Given the description of an element on the screen output the (x, y) to click on. 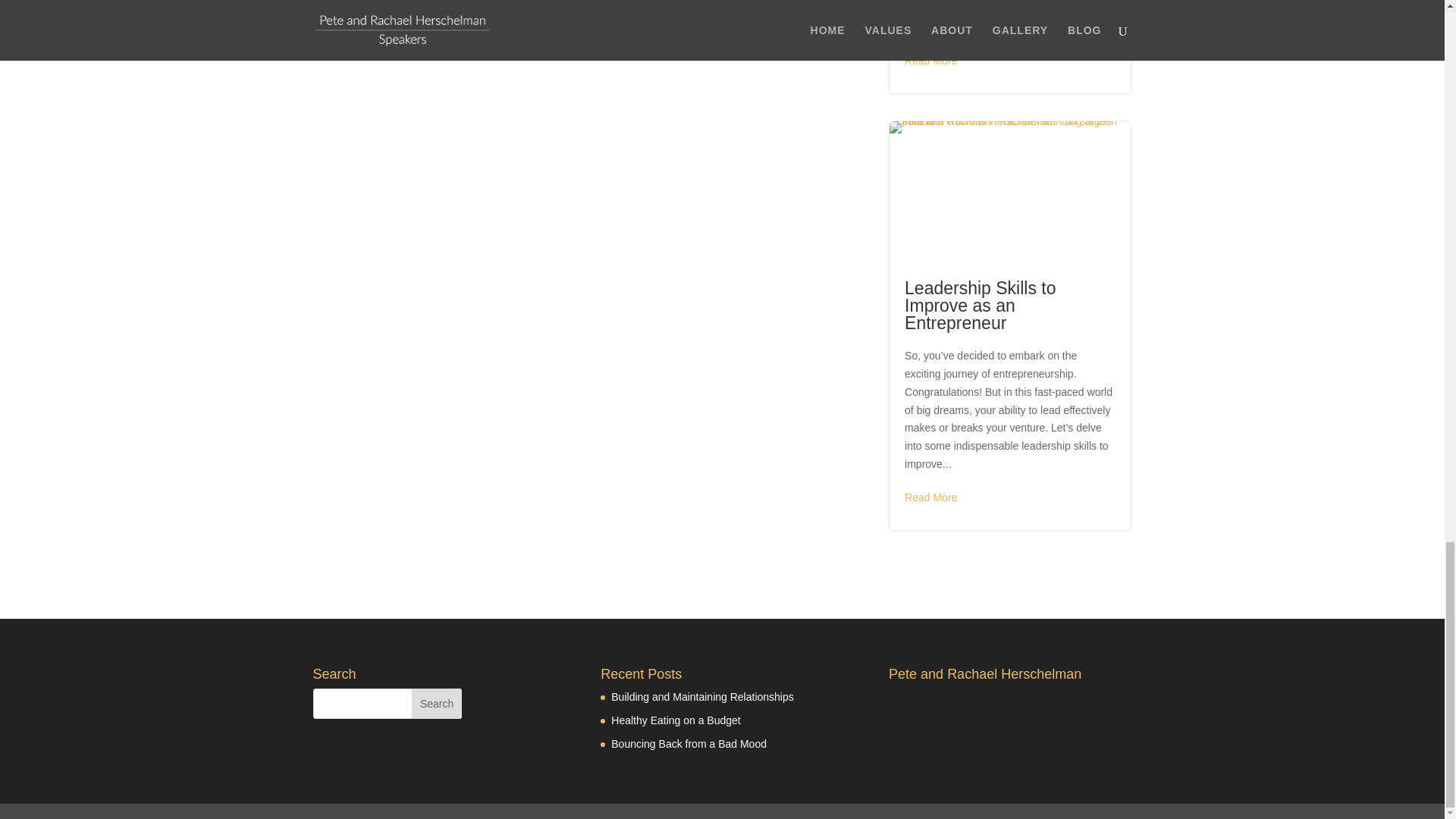
Leadership Skills to Improve as an Entrepreneur  (979, 305)
Read More (930, 497)
Bouncing Back from a Bad Mood  (690, 743)
Search (436, 703)
Building and Maintaining Relationships  (703, 696)
Search (436, 703)
Read More (930, 61)
Healthy Eating on a Budget  (676, 720)
